Given the description of an element on the screen output the (x, y) to click on. 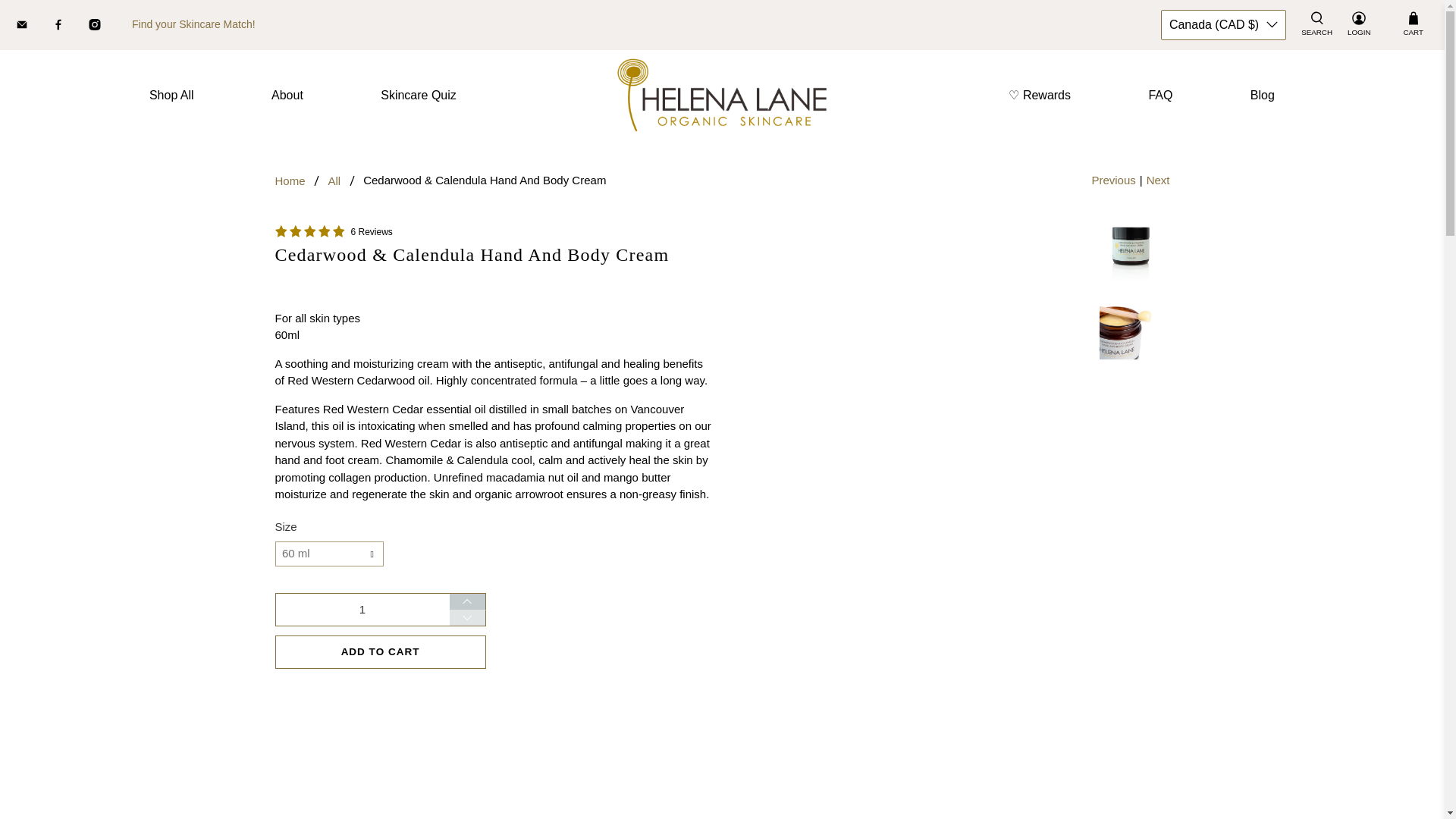
FR (1217, 275)
Previous (1112, 180)
PL (1217, 647)
AU (1217, 59)
SEARCH (1316, 24)
DE (1217, 303)
Skincare Quiz (418, 95)
Next (1158, 180)
IT (1217, 433)
IL (1217, 404)
Find your Skincare Match! (194, 24)
About (287, 95)
Helena Lane Skincare (289, 180)
1 (361, 609)
KR (1217, 754)
